Given the description of an element on the screen output the (x, y) to click on. 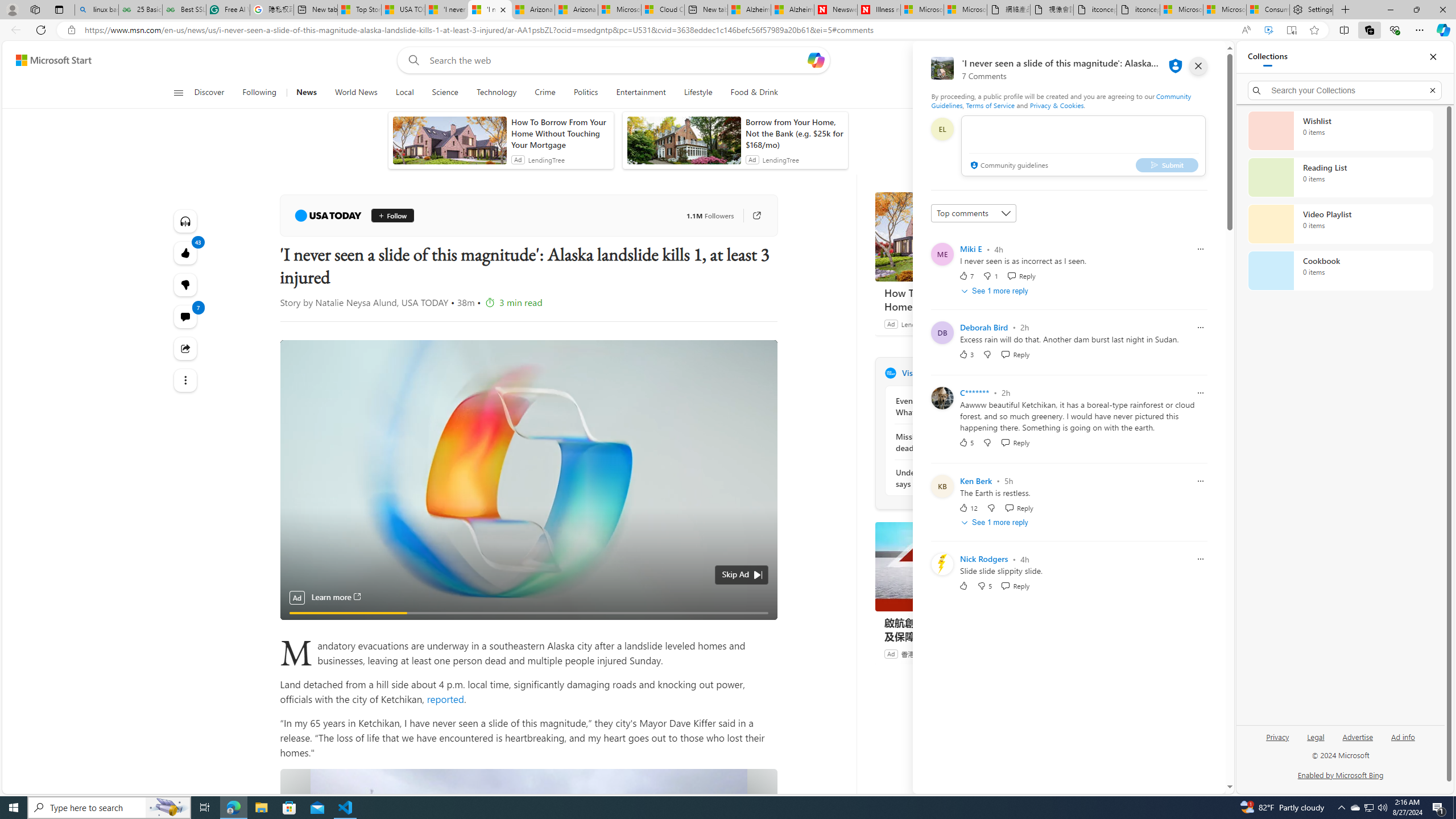
Visit USA TODAY website (1031, 372)
Community Guidelines (1060, 100)
Privacy & Cookies (1056, 104)
Pause (296, 606)
Reading List collection, 0 items (1339, 177)
comment-box (1082, 145)
Sort comments by (973, 212)
